Given the description of an element on the screen output the (x, y) to click on. 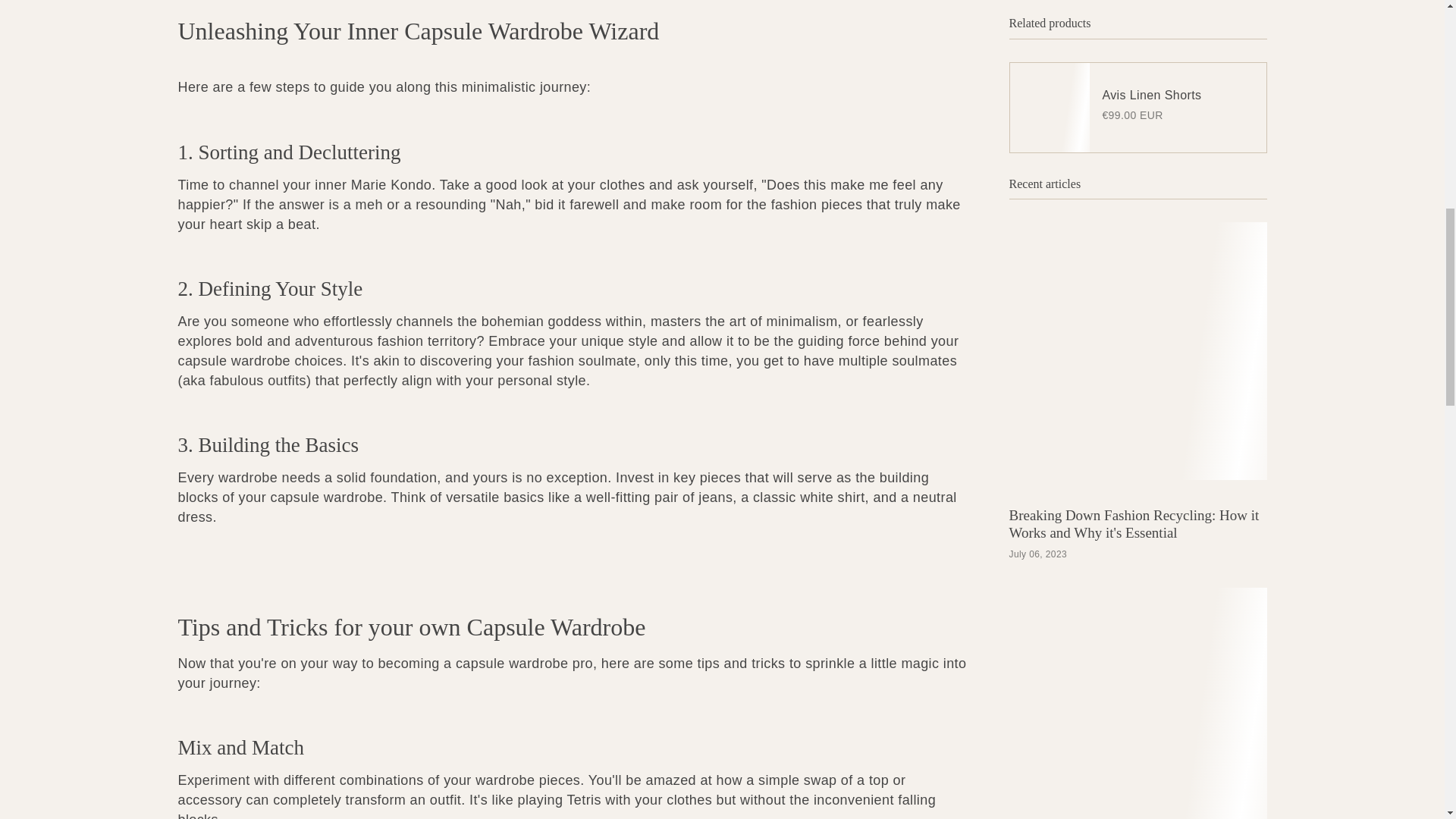
Sustainable Tips for an Eco-Friendly Summer (1115, 472)
